Given the description of an element on the screen output the (x, y) to click on. 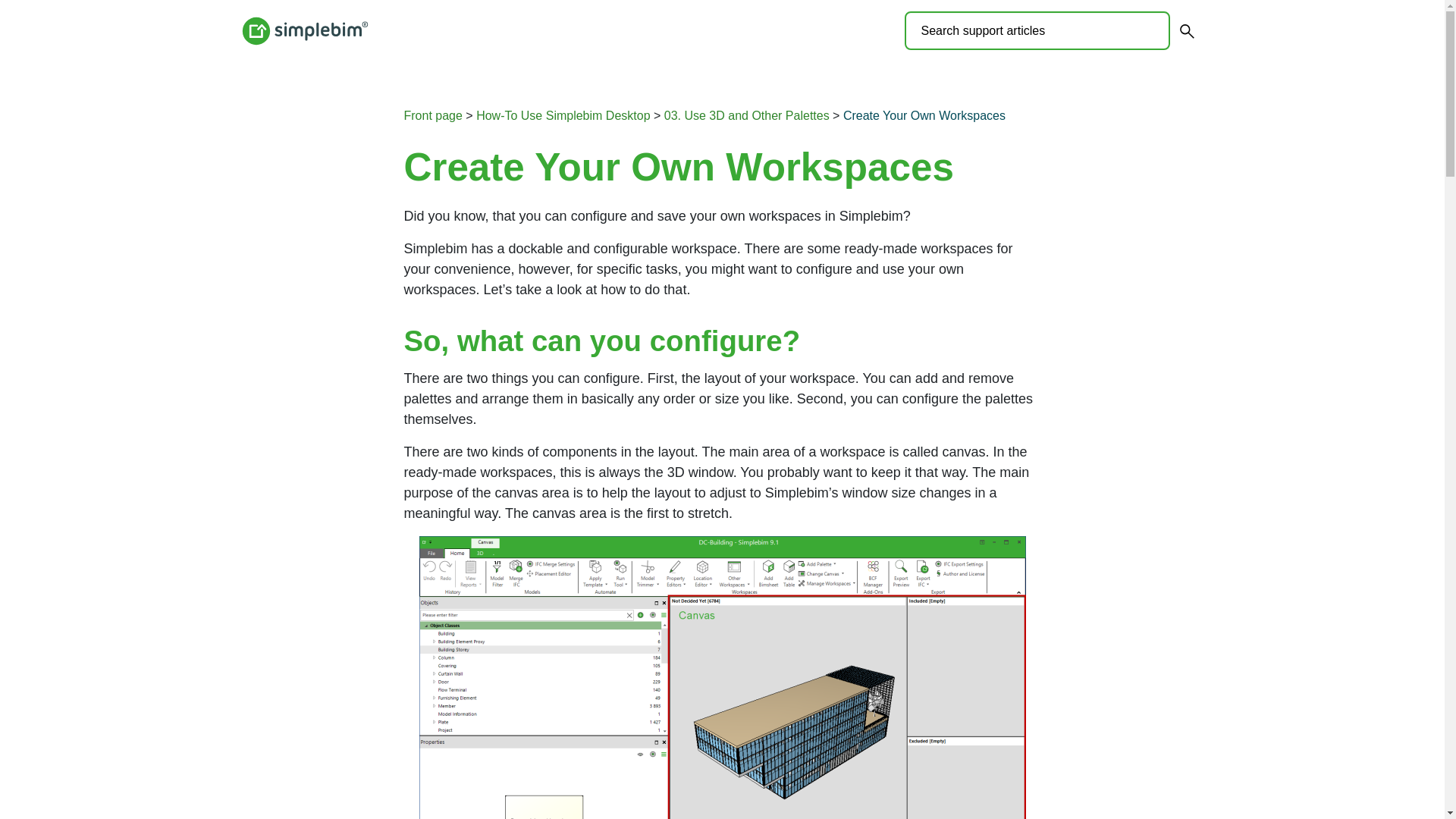
03. Use 3D and Other Palettes (746, 115)
How-To Use Simplebim Desktop (562, 115)
Front page (432, 115)
